Given the description of an element on the screen output the (x, y) to click on. 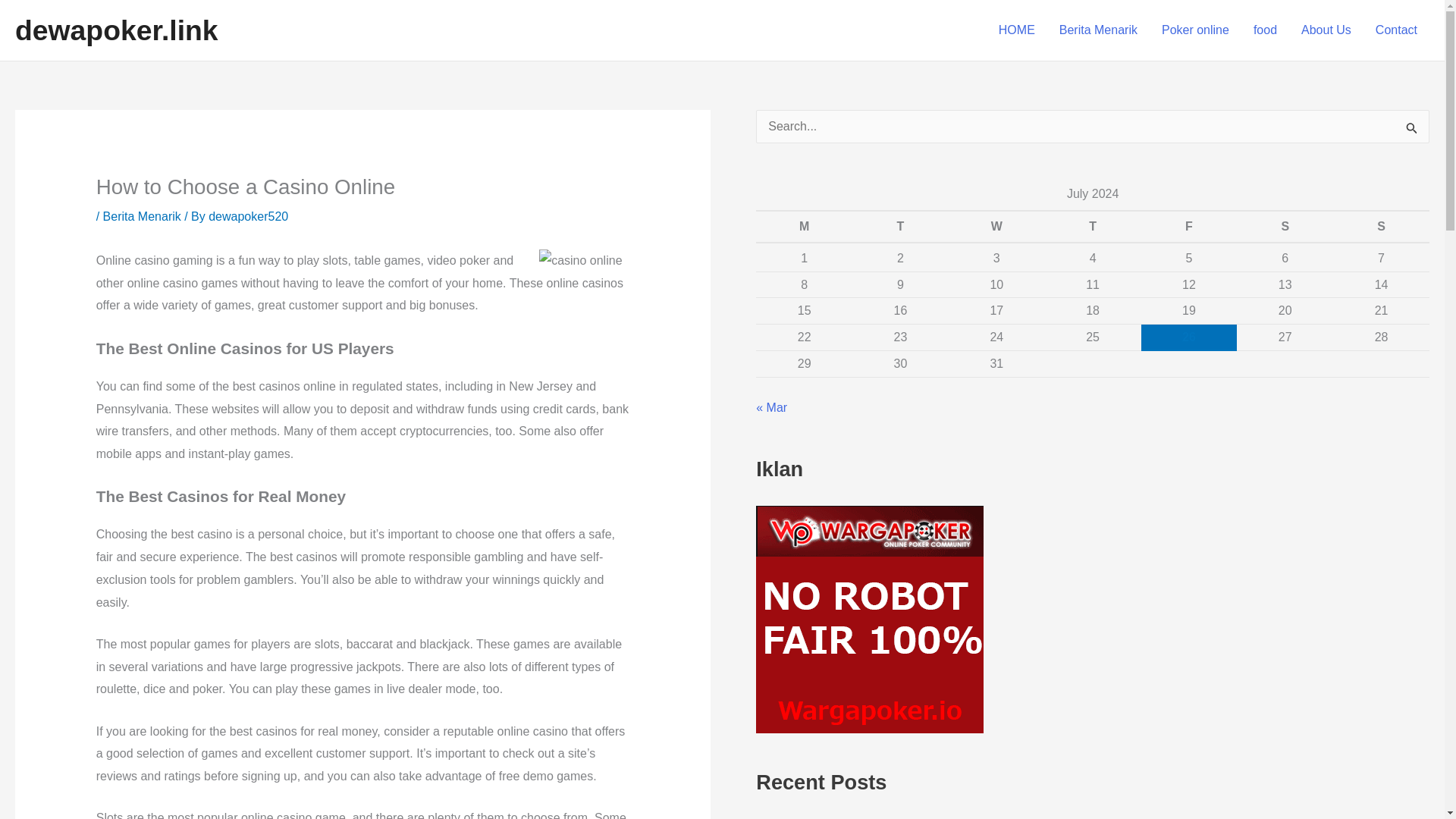
Monday (803, 226)
wargapoker (869, 619)
Friday (1188, 226)
HOME (1016, 30)
Berita Menarik (141, 215)
Contact (1395, 30)
dewapoker.link (116, 29)
About Us (1325, 30)
Poker online (1195, 30)
Thursday (1093, 226)
View all posts by dewapoker520 (248, 215)
Sunday (1381, 226)
Wednesday (997, 226)
Tuesday (900, 226)
Berita Menarik (1098, 30)
